Given the description of an element on the screen output the (x, y) to click on. 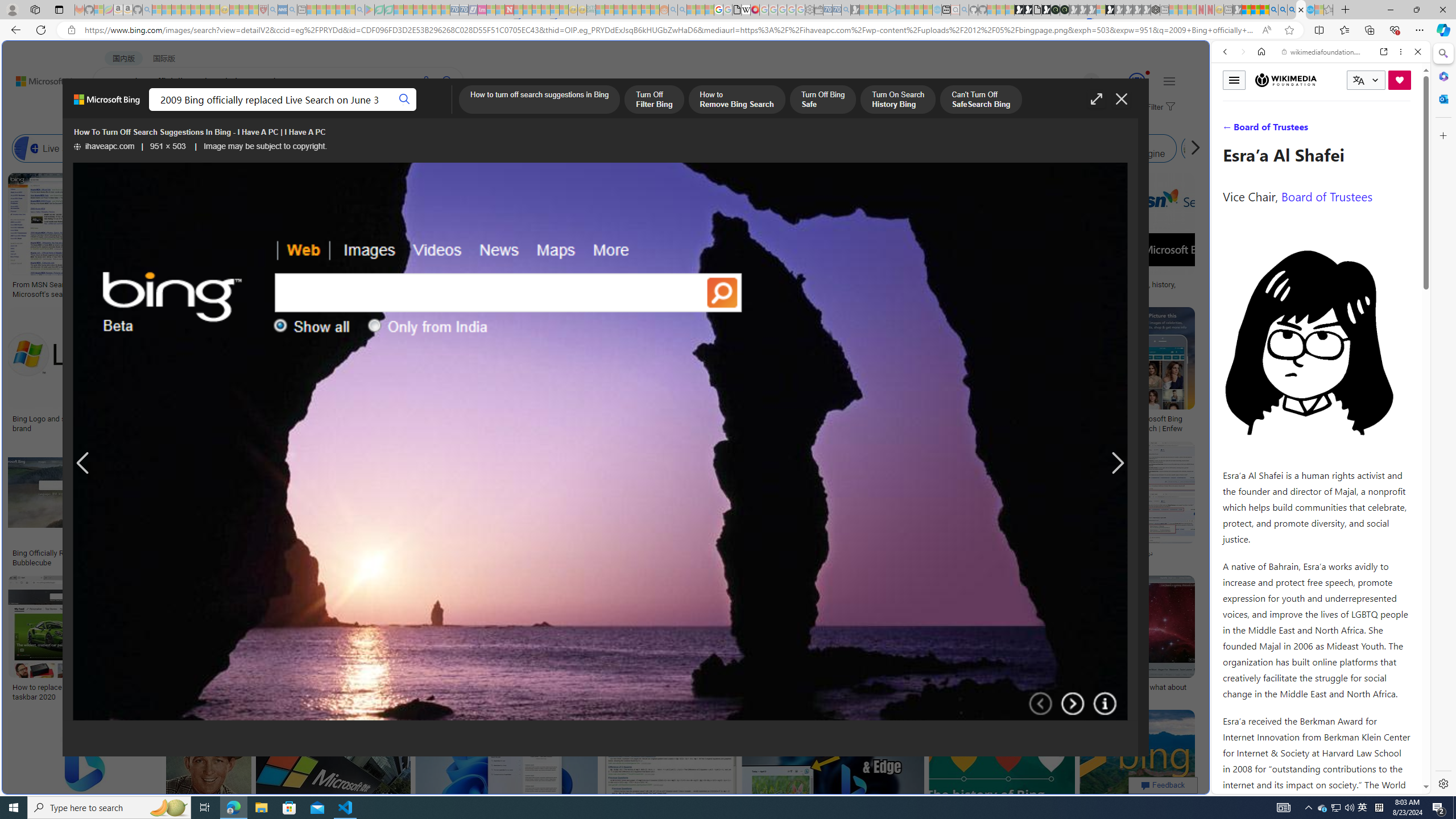
Class: i icon icon-translate language-switcher__icon (1358, 80)
Tabs you've opened (885, 151)
Next image result (1117, 463)
MSN Homepage Bing Search Engine (767, 148)
Bing AI - Search (1272, 9)
